Given the description of an element on the screen output the (x, y) to click on. 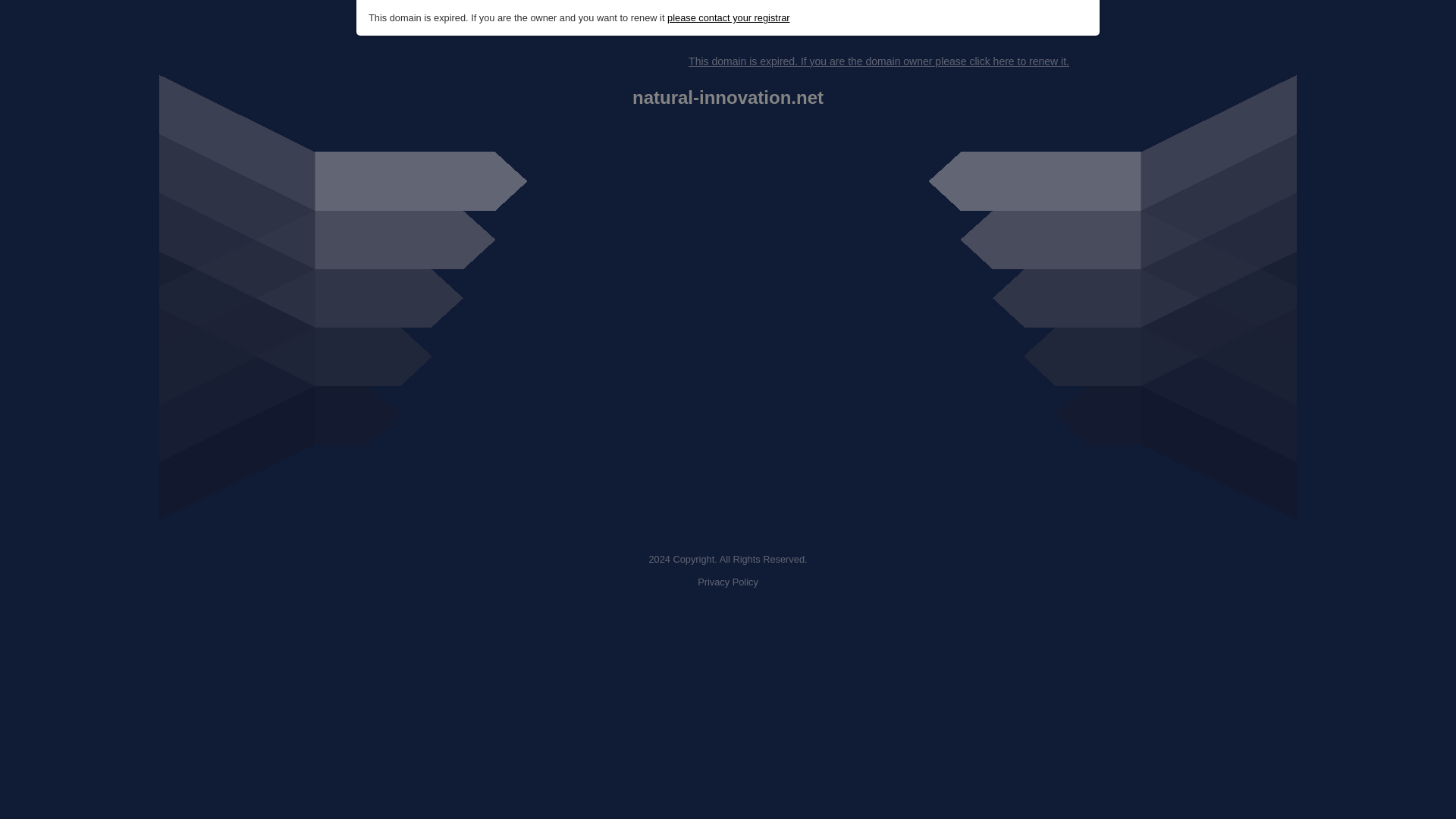
Privacy Policy (727, 582)
please contact your registrar (727, 17)
